Given the description of an element on the screen output the (x, y) to click on. 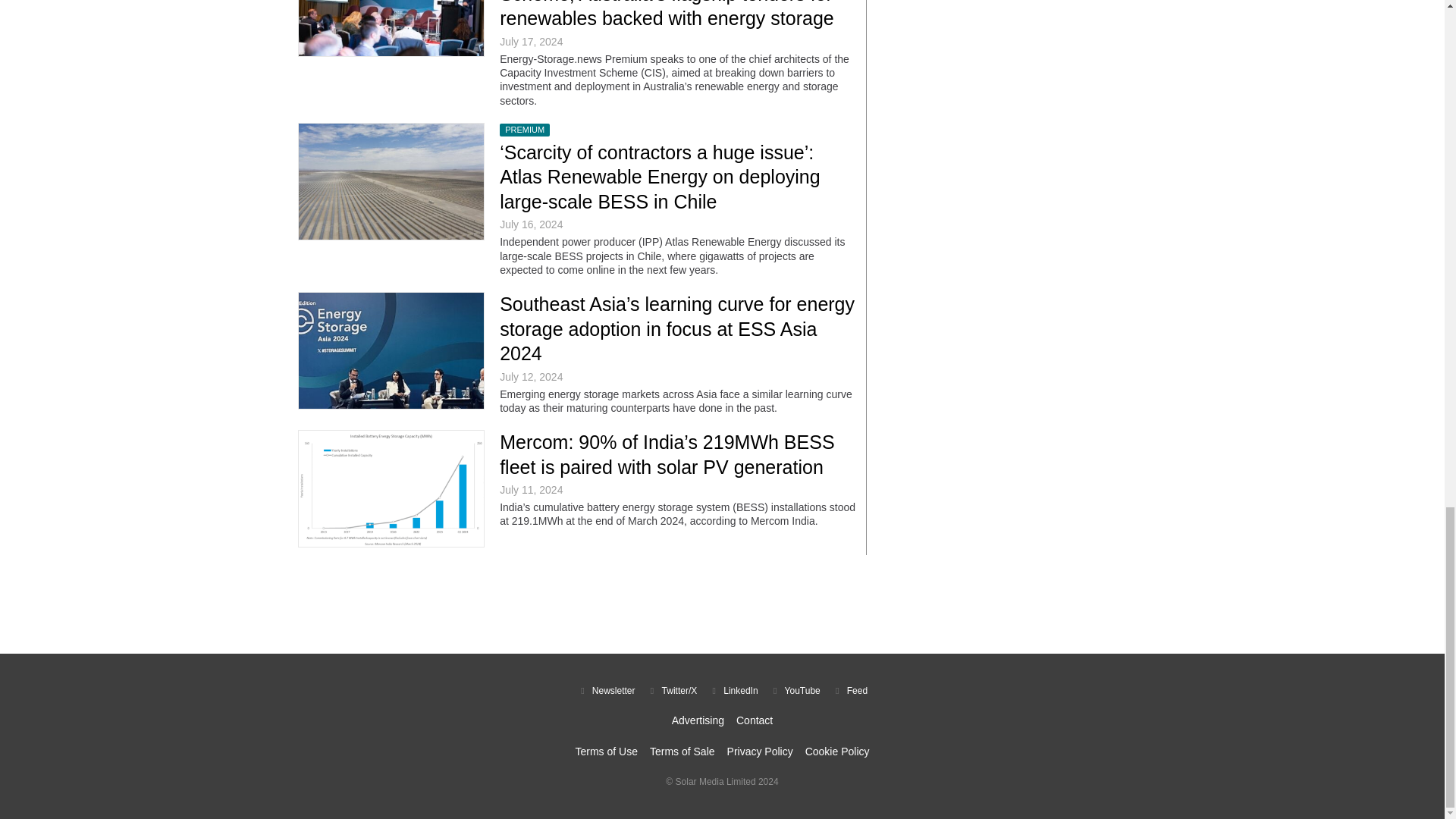
3rd party ad content (721, 604)
India installed BESS capacity in MWh Q1 2024 Mercom (390, 488)
Sol del Desierto PV Atlas Renewable Chile (390, 181)
vikram kumar ifc at ess asia 2024 (390, 350)
